Given the description of an element on the screen output the (x, y) to click on. 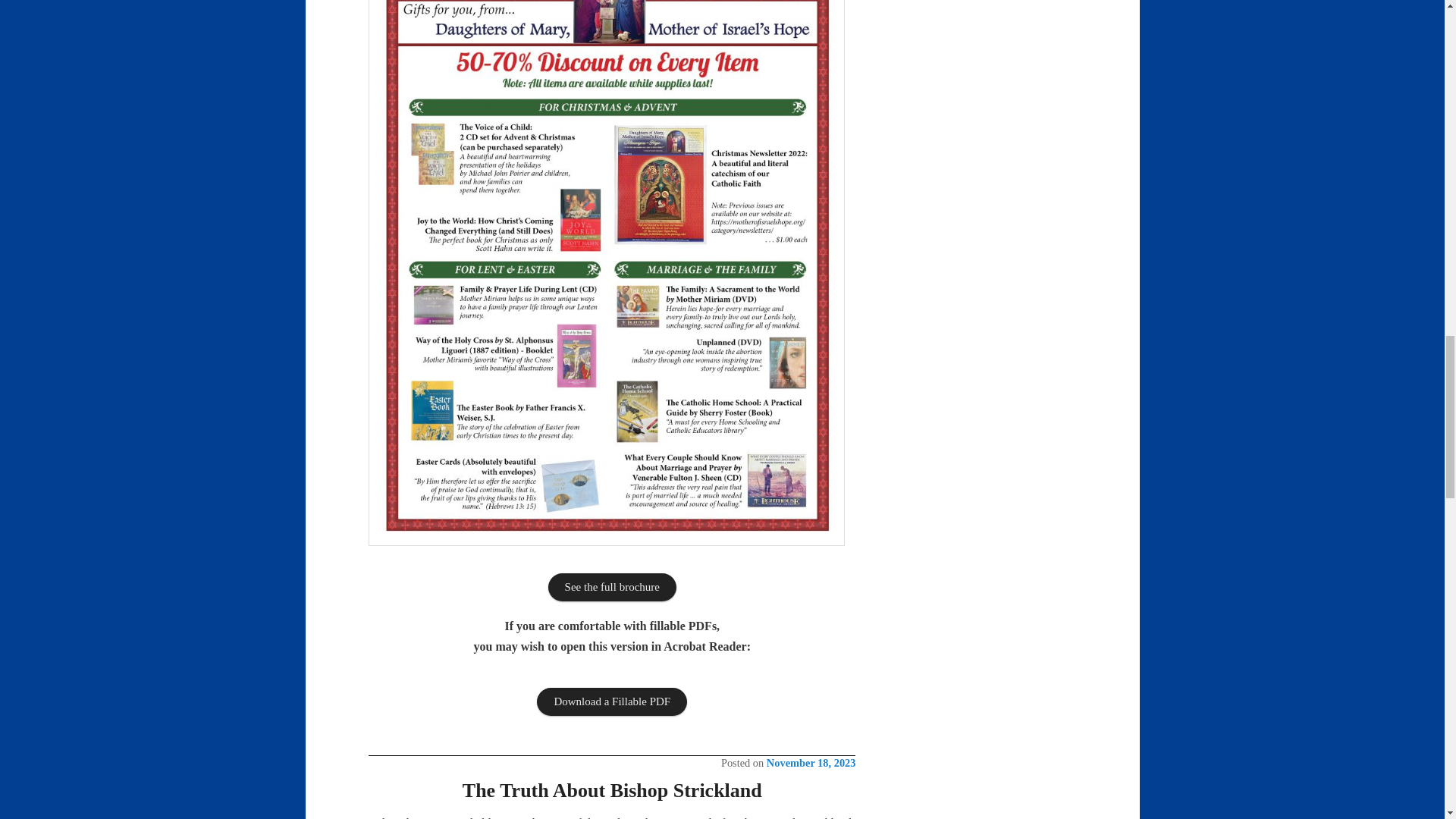
1:25 am (811, 762)
See the full brochure (612, 587)
The Truth About Bishop Strickland (612, 790)
Download a Fillable PDF (612, 701)
November 18, 2023 (811, 762)
